Given the description of an element on the screen output the (x, y) to click on. 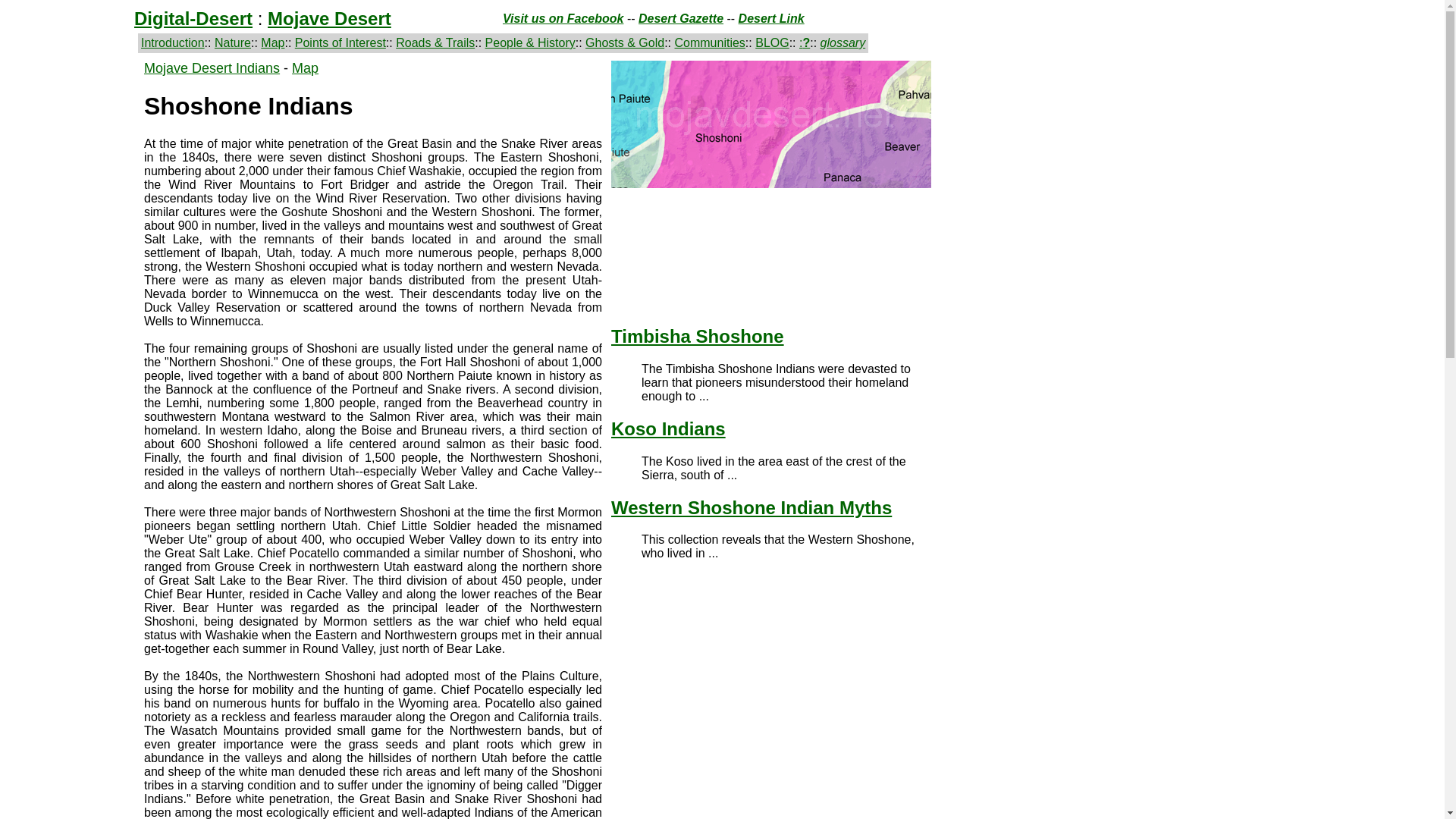
Timbisha Shoshone (771, 349)
BLOG (772, 42)
Communities (710, 42)
glossary (843, 42)
Nature (232, 42)
Mojave Desert (329, 18)
Mojave Desert Indians (211, 68)
Visit us on Facebook (562, 18)
Desert Link (771, 18)
Western Shoshone Indian Myths (771, 507)
Map (305, 68)
Points of Interest (340, 42)
Digital-Desert (192, 18)
Map (271, 42)
Desert Gazette (681, 18)
